Given the description of an element on the screen output the (x, y) to click on. 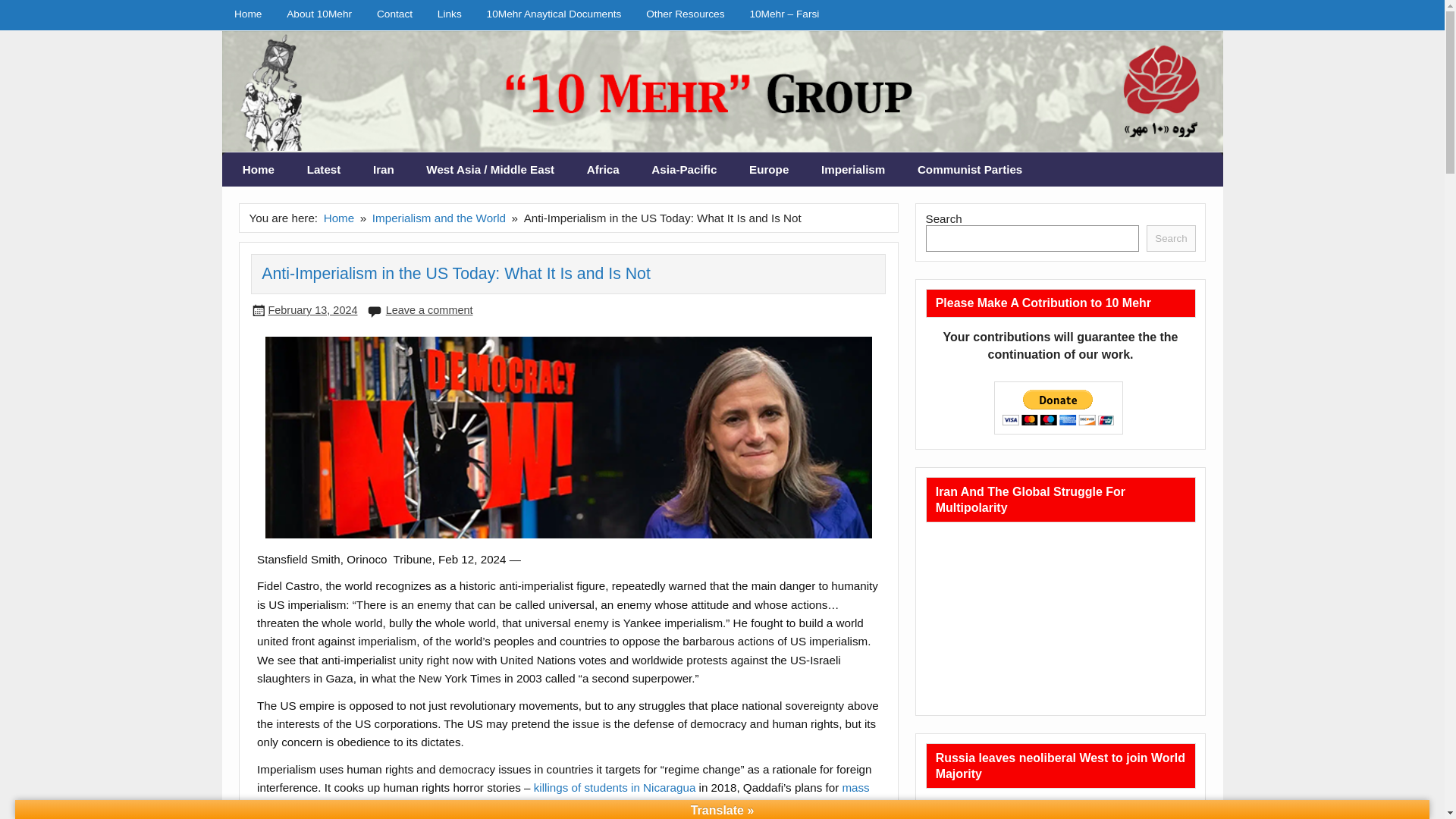
Home (247, 14)
Leave a comment (429, 309)
Contact (394, 14)
mass rape and murder in Libya (563, 796)
Latest (322, 170)
Asia-Pacific (683, 170)
Chinese genocide (717, 806)
Links (449, 14)
Imperialism and the World (438, 217)
About 10Mehr (320, 14)
